Given the description of an element on the screen output the (x, y) to click on. 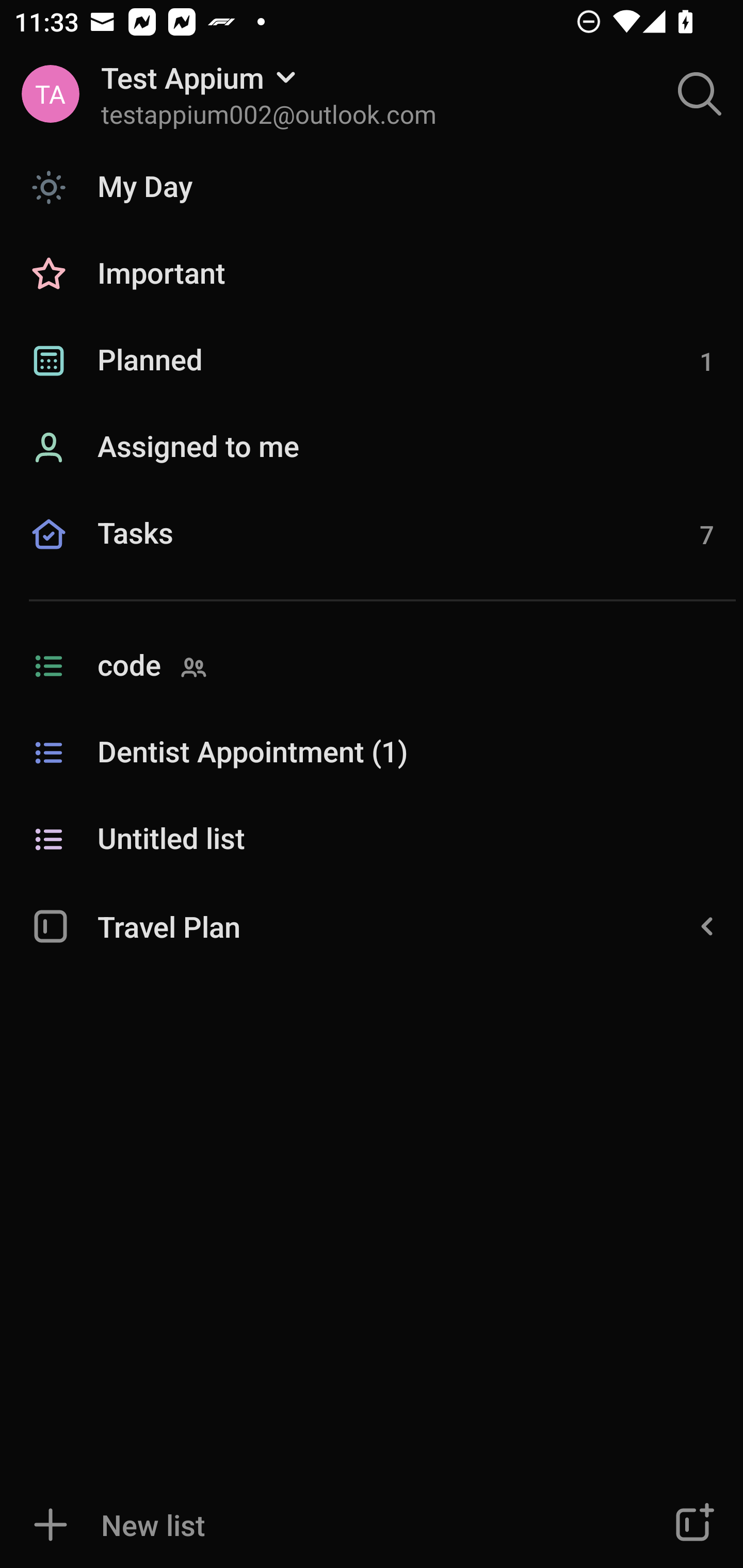
Enter search (699, 93)
My Day, 0 tasks My Day (371, 187)
Important, 0 tasks Important (371, 274)
Planned, 1 tasks Planned 1 (371, 361)
Assigned to me, 0 tasks Assigned to me (371, 447)
Tasks, 7 tasks Tasks 7 (371, 556)
Shared list. code code Shared list (371, 666)
Dentist Appointment (1) (371, 753)
Untitled list (371, 839)
Group Travel Plan, contains 0 lists Travel Plan (371, 925)
New list (312, 1524)
Create group (692, 1524)
